Given the description of an element on the screen output the (x, y) to click on. 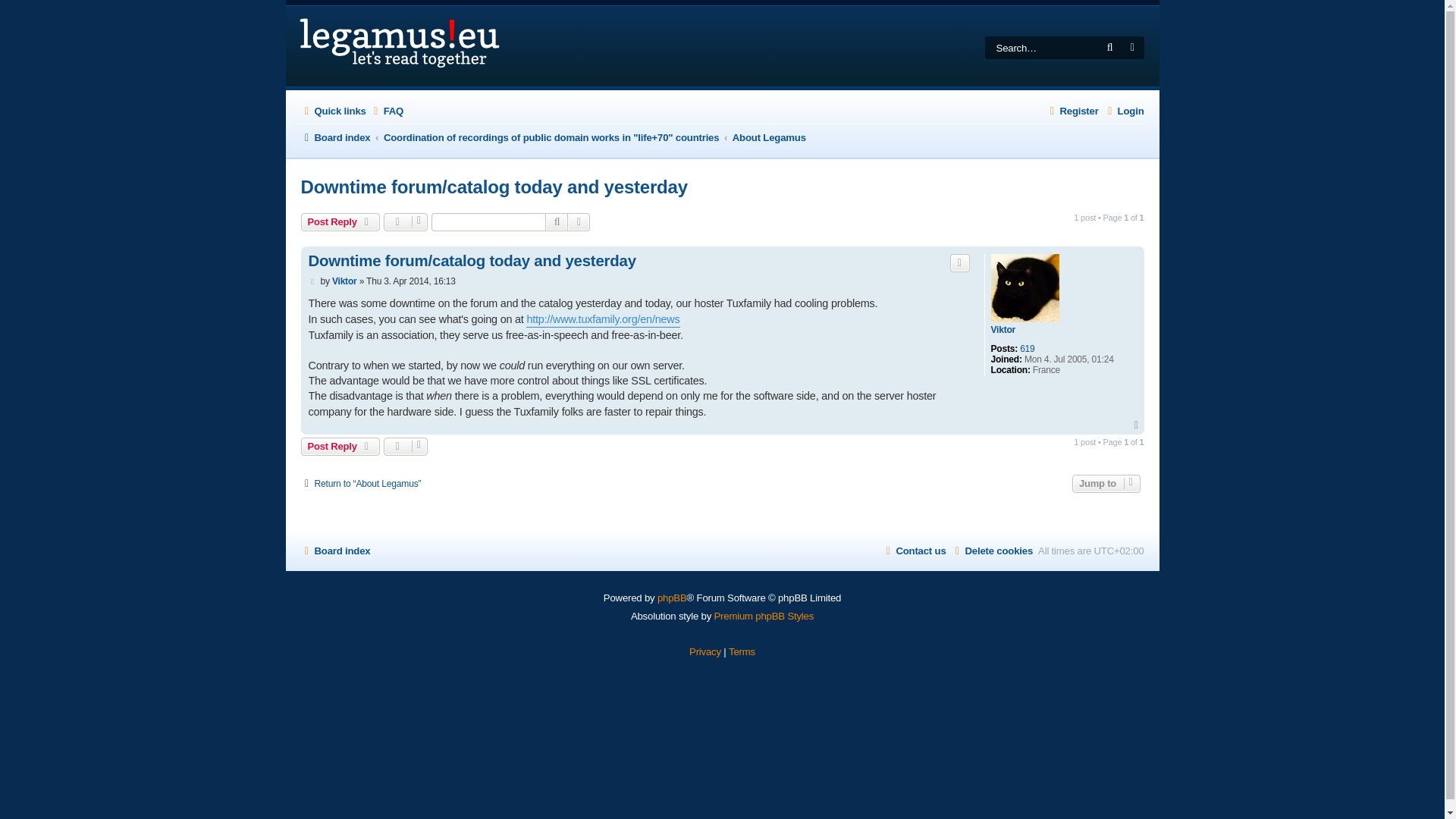
Topic tools (406, 221)
Search for keywords (1042, 47)
Board index (334, 137)
Quote (959, 262)
Advanced search (578, 221)
Search (555, 221)
Advanced search (1132, 47)
About Legamus (769, 137)
FAQ (386, 110)
Post Reply (339, 221)
Board index (334, 137)
Viktor (343, 281)
Viktor (1002, 329)
Post Reply (339, 446)
Frequently Asked Questions (386, 110)
